Given the description of an element on the screen output the (x, y) to click on. 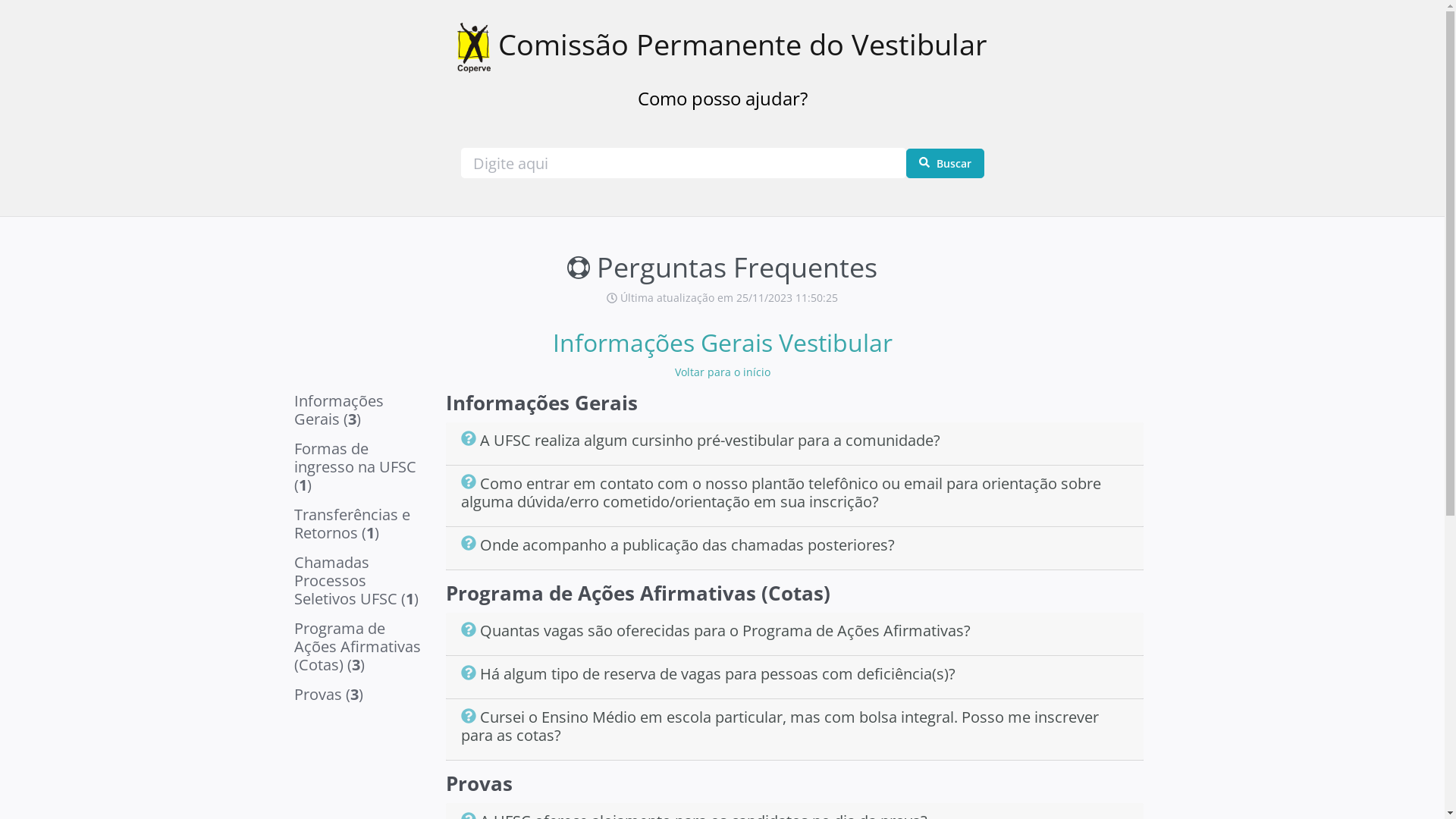
Chamadas Processos Seletivos UFSC (1) Element type: text (361, 583)
Provas (3) Element type: text (361, 697)
Formas de ingresso na UFSC (1) Element type: text (361, 470)
Buscar Element type: text (944, 163)
